Given the description of an element on the screen output the (x, y) to click on. 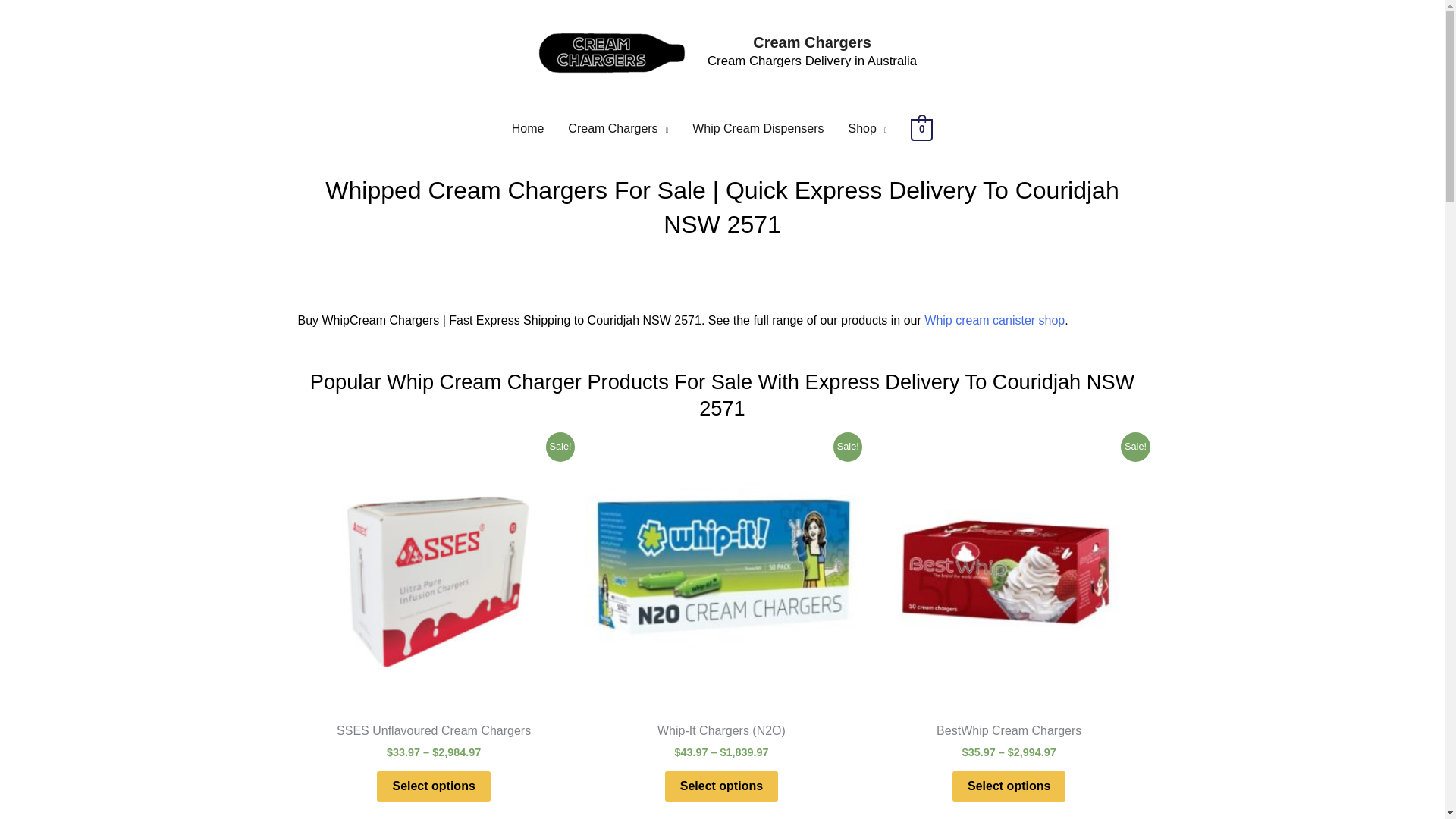
Cream Chargers (617, 128)
Home (527, 128)
Whip cream canister shop (994, 319)
SSES Unflavoured Cream Chargers (433, 734)
0 (922, 128)
Whip Cream Dispensers (757, 128)
Select options (721, 786)
BestWhip Cream Chargers (1008, 734)
Select options (433, 786)
Select options (1008, 786)
Shop (867, 128)
Cream Chargers (811, 42)
